Given the description of an element on the screen output the (x, y) to click on. 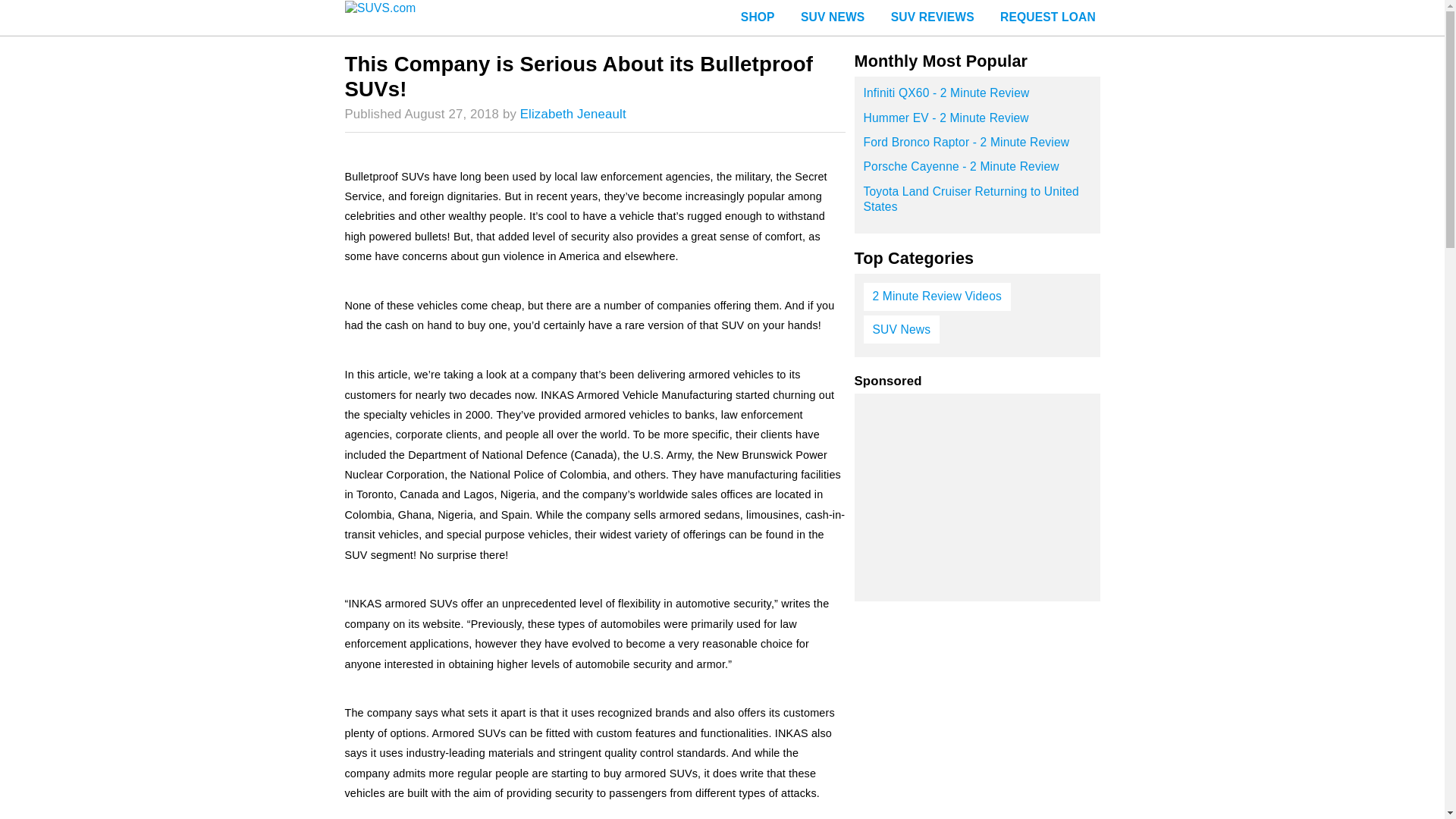
SUV News (901, 329)
2 Minute Review Videos (936, 296)
REQUEST LOAN (1047, 18)
SHOP (757, 18)
Porsche Cayenne - 2 Minute Review (976, 170)
Toyota Land Cruiser Returning to United States (976, 204)
SUV NEWS (832, 18)
SUV REVIEWS (932, 18)
Hummer EV - 2 Minute Review (976, 122)
Ford Bronco Raptor - 2 Minute Review (976, 146)
Elizabeth Jeneault (572, 114)
Infiniti QX60 - 2 Minute Review (976, 97)
